Given the description of an element on the screen output the (x, y) to click on. 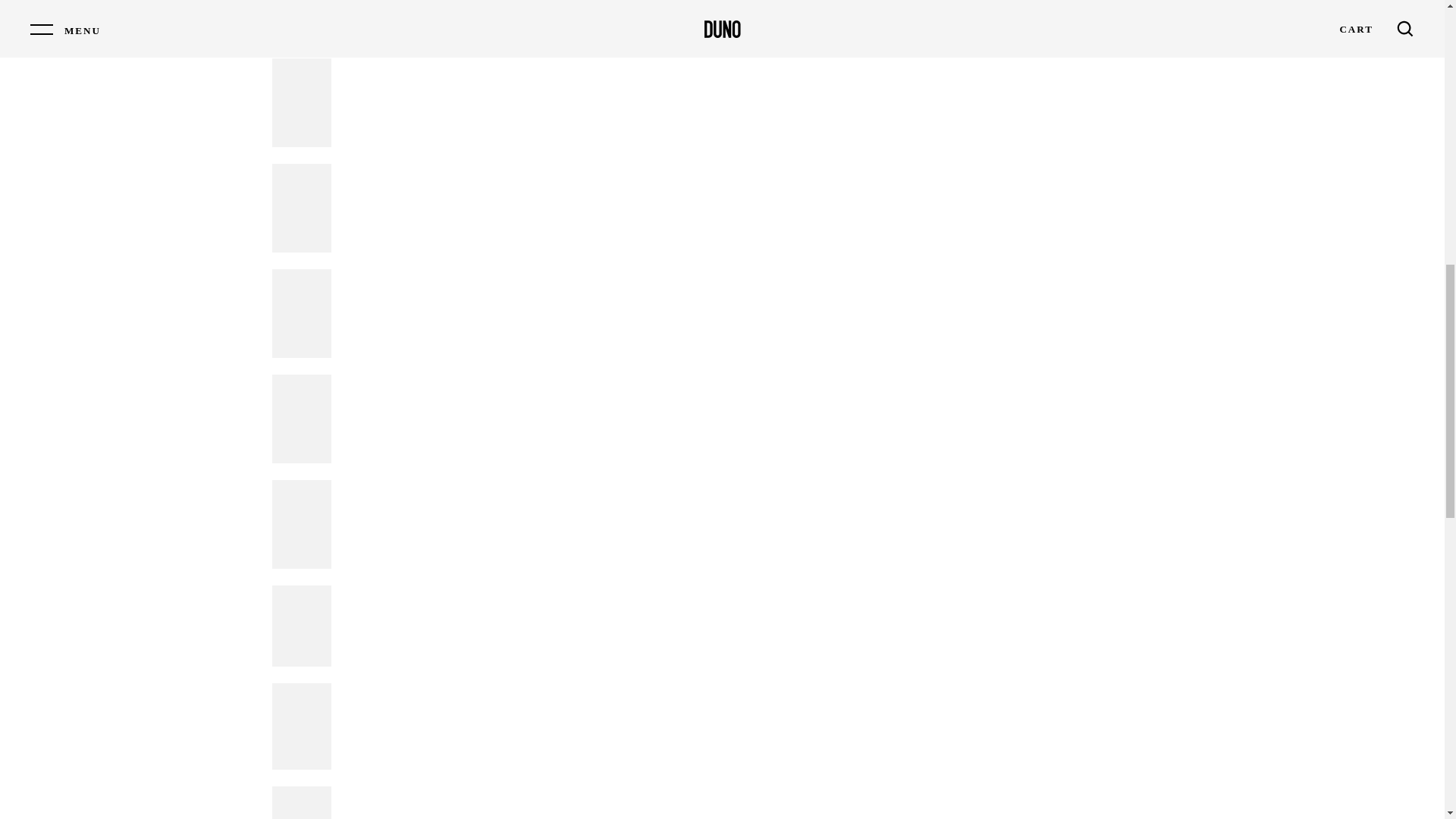
Facebook (911, 9)
Twitter (934, 9)
Pinterest (956, 9)
